Given the description of an element on the screen output the (x, y) to click on. 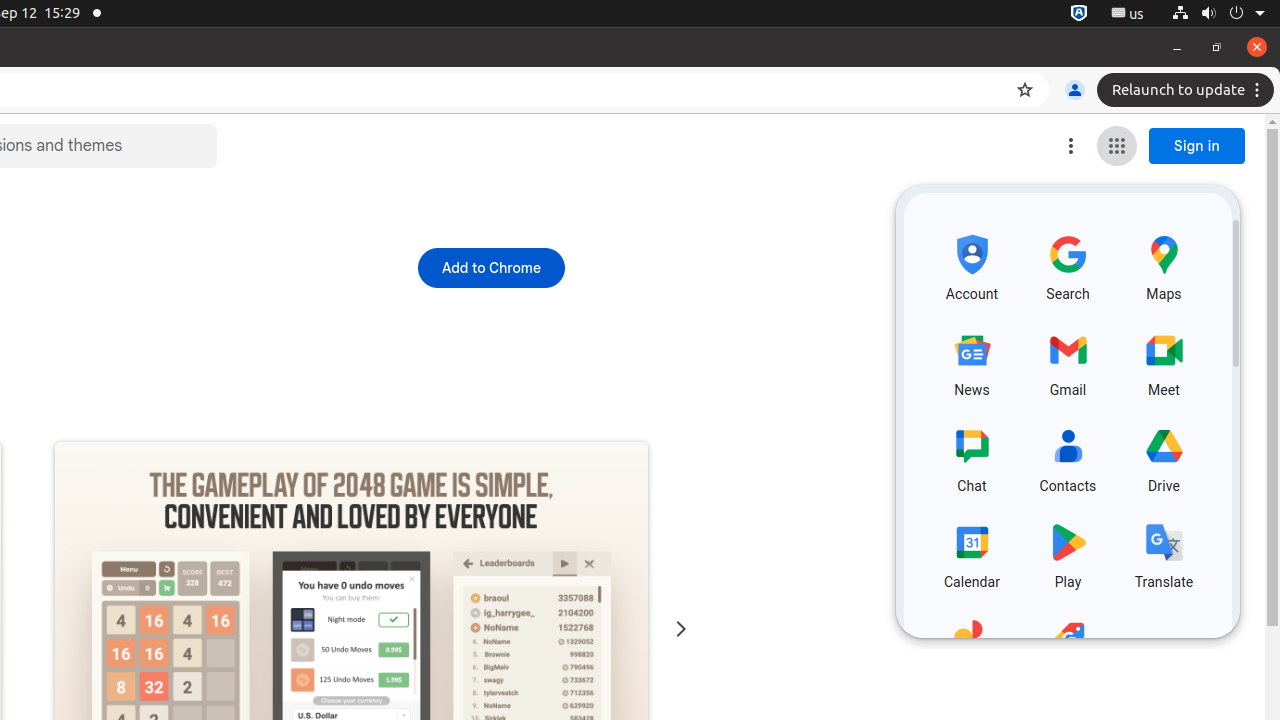
:1.72/StatusNotifierItem Element type: menu (1079, 13)
Maps, row 1 of 5 and column 3 of 3 in the first section (opens a new tab) Element type: link (1164, 265)
Sign in Element type: link (1197, 146)
Google apps Element type: push-button (1117, 145)
Shopping, row 5 of 5 and column 2 of 3 in the first section (opens a new tab) Element type: link (1068, 649)
